Given the description of an element on the screen output the (x, y) to click on. 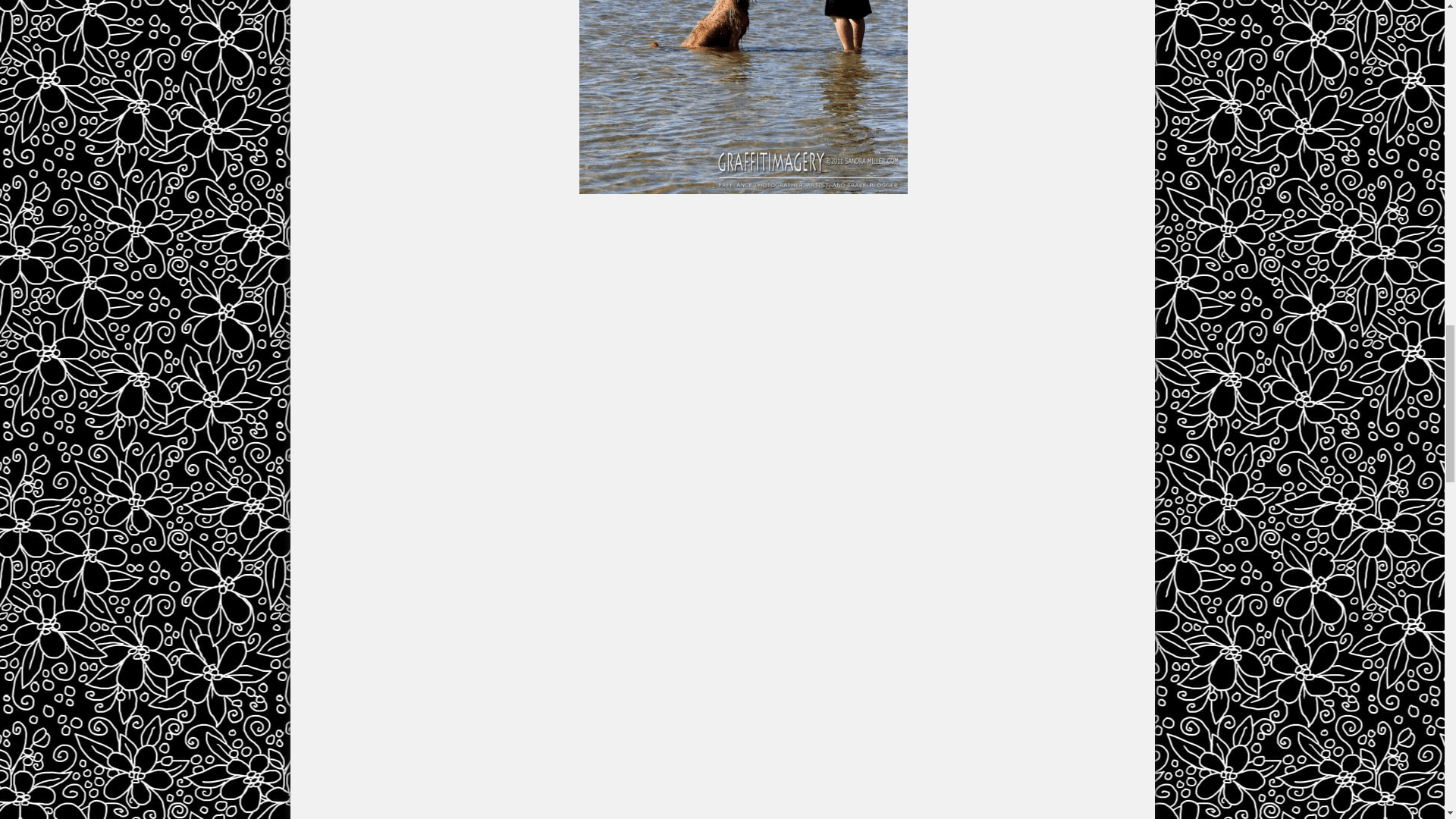
Screen shot 2011-08-22 at 9.27.33 AM (743, 97)
